Given the description of an element on the screen output the (x, y) to click on. 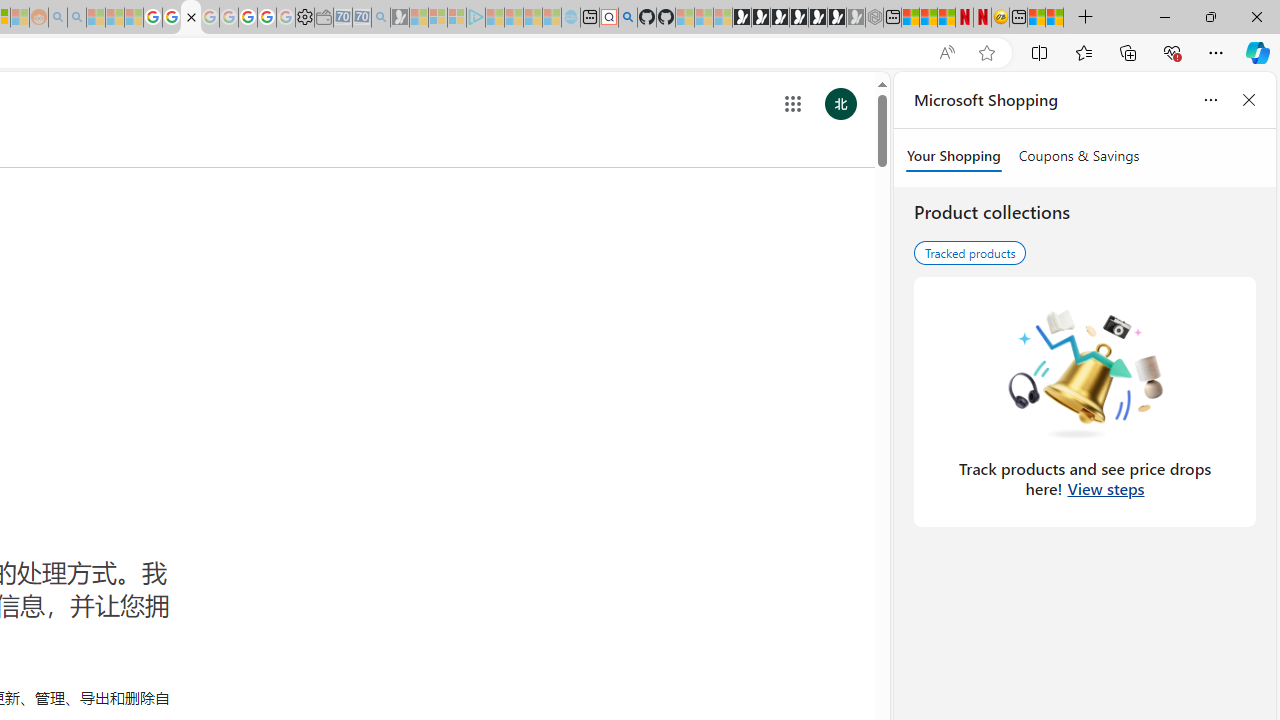
Class: gb_E (792, 103)
